Given the description of an element on the screen output the (x, y) to click on. 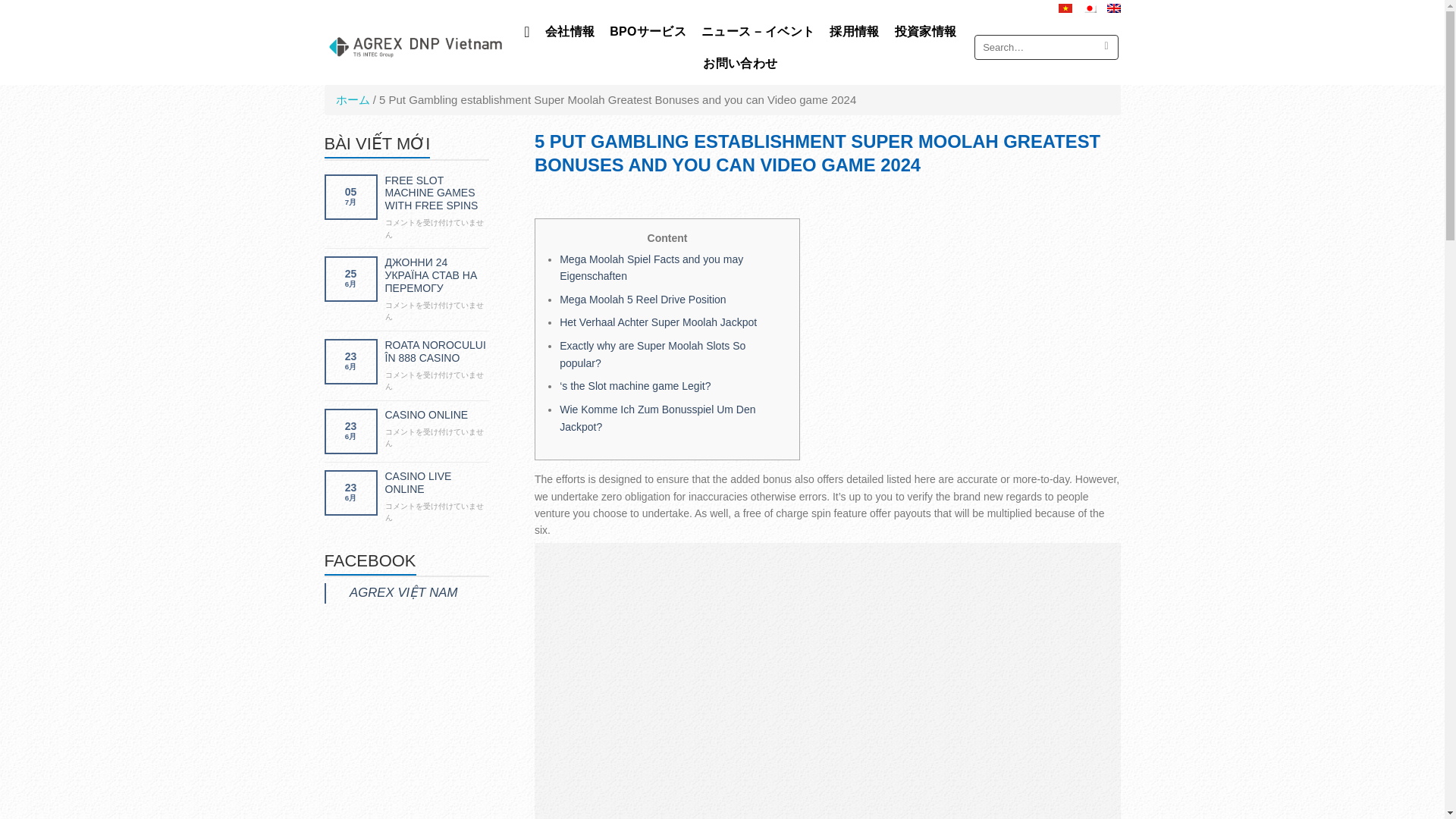
Casino Online (437, 414)
CASINO LIVE ONLINE (437, 483)
Exactly why are Super Moolah Slots So popular? (652, 353)
Mega Moolah 5 Reel Drive Position (642, 299)
Casino Live Online (437, 483)
Free Slot Machine Games With Free Spins (437, 193)
CASINO ONLINE (437, 414)
Wie Komme Ich Zum Bonusspiel Um Den Jackpot? (657, 417)
FREE SLOT MACHINE GAMES WITH FREE SPINS (437, 193)
Het Verhaal Achter Super Moolah Jackpot (658, 322)
